Given the description of an element on the screen output the (x, y) to click on. 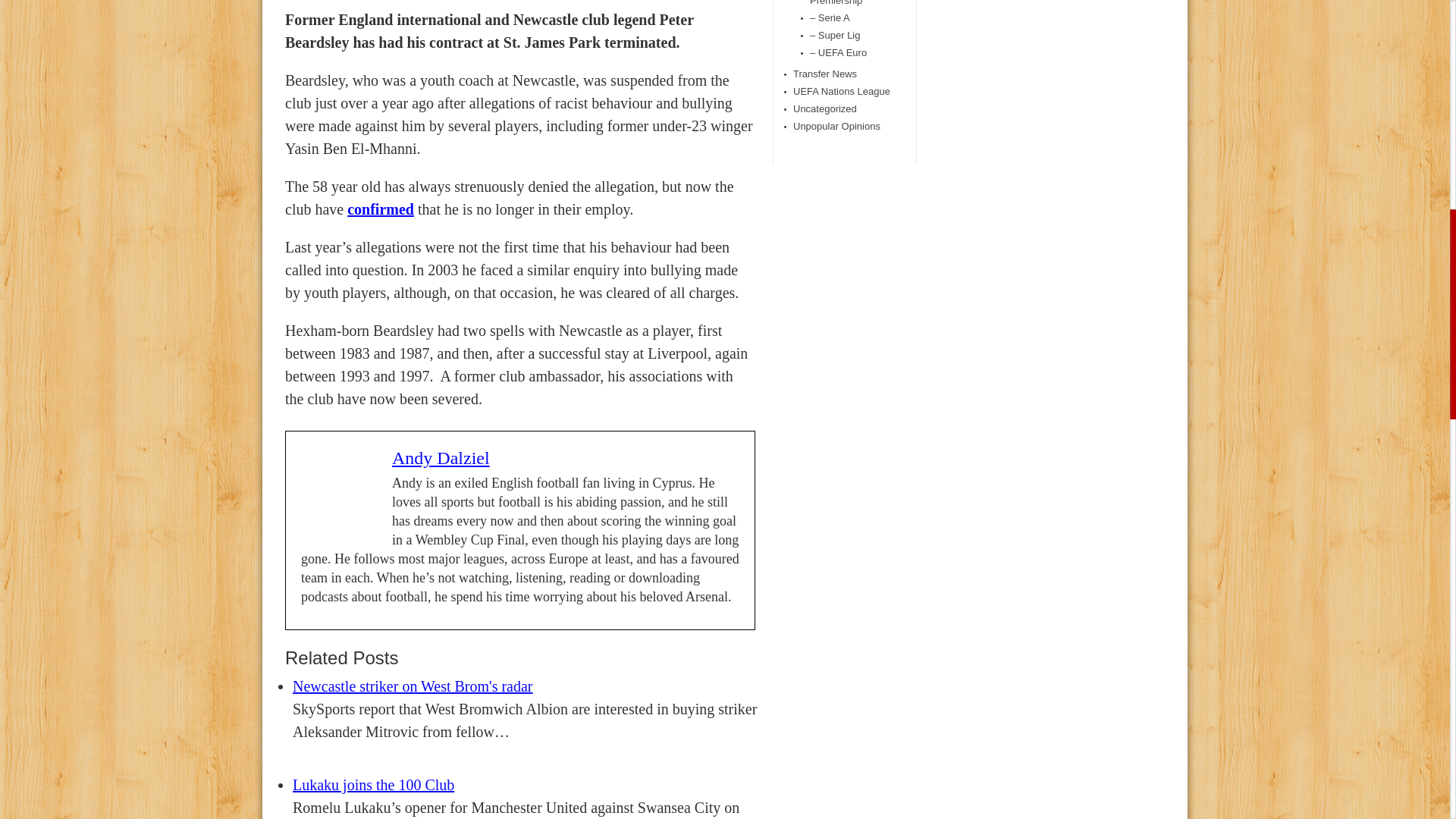
confirmed (380, 208)
Newcastle striker on West Brom's radar (412, 686)
Lukaku joins the 100 Club (373, 784)
Andy Dalziel (440, 457)
